Given the description of an element on the screen output the (x, y) to click on. 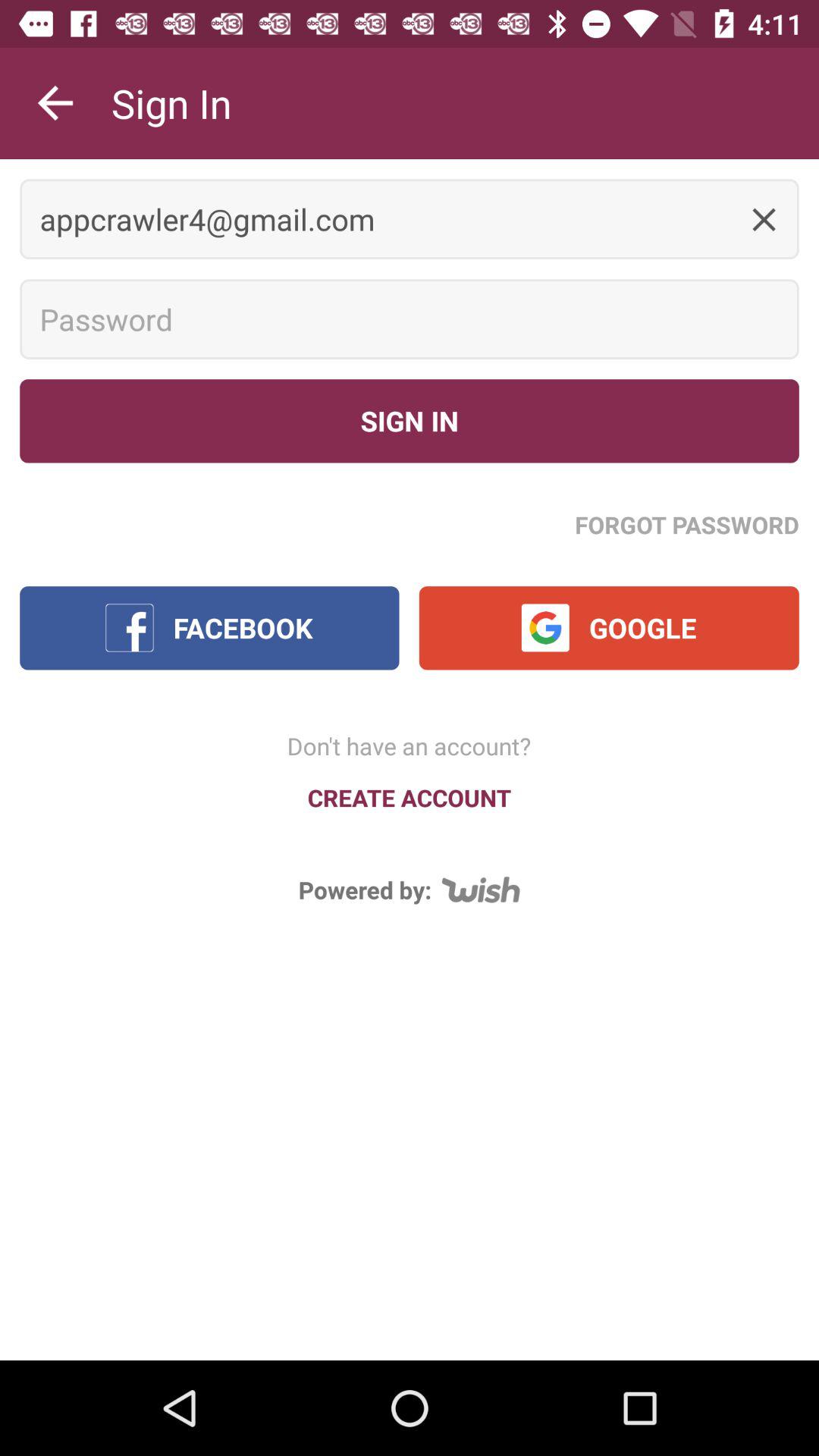
press the forgot password icon (687, 524)
